Given the description of an element on the screen output the (x, y) to click on. 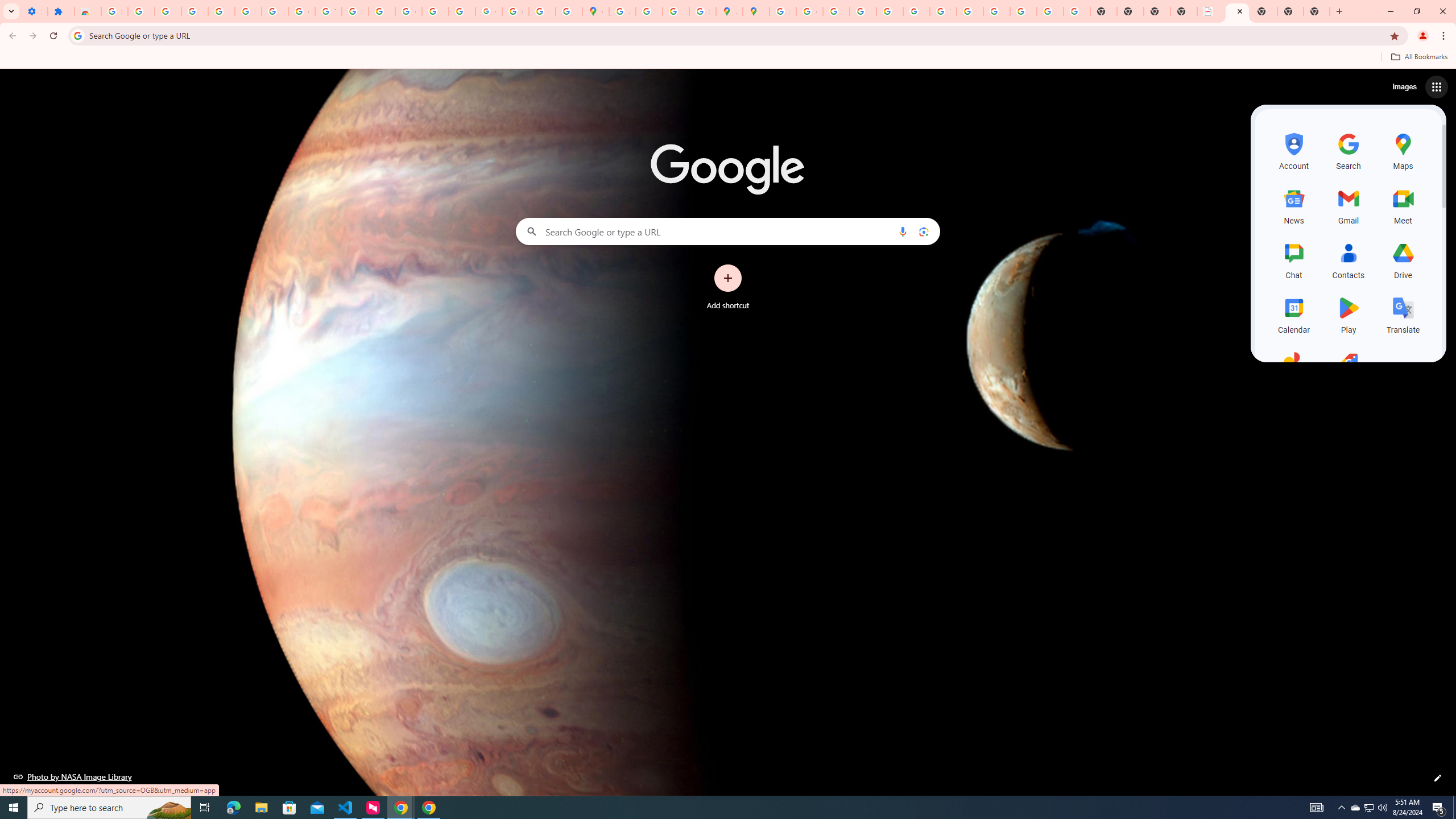
Customize this page (1437, 778)
Add shortcut (727, 287)
Reviews: Helix Fruit Jump Arcade Game (87, 11)
Delete photos & videos - Computer - Google Photos Help (167, 11)
Google Maps (595, 11)
Drive, row 3 of 5 and column 3 of 3 in the first section (1402, 259)
Chat, row 3 of 5 and column 1 of 3 in the first section (1293, 259)
